Given the description of an element on the screen output the (x, y) to click on. 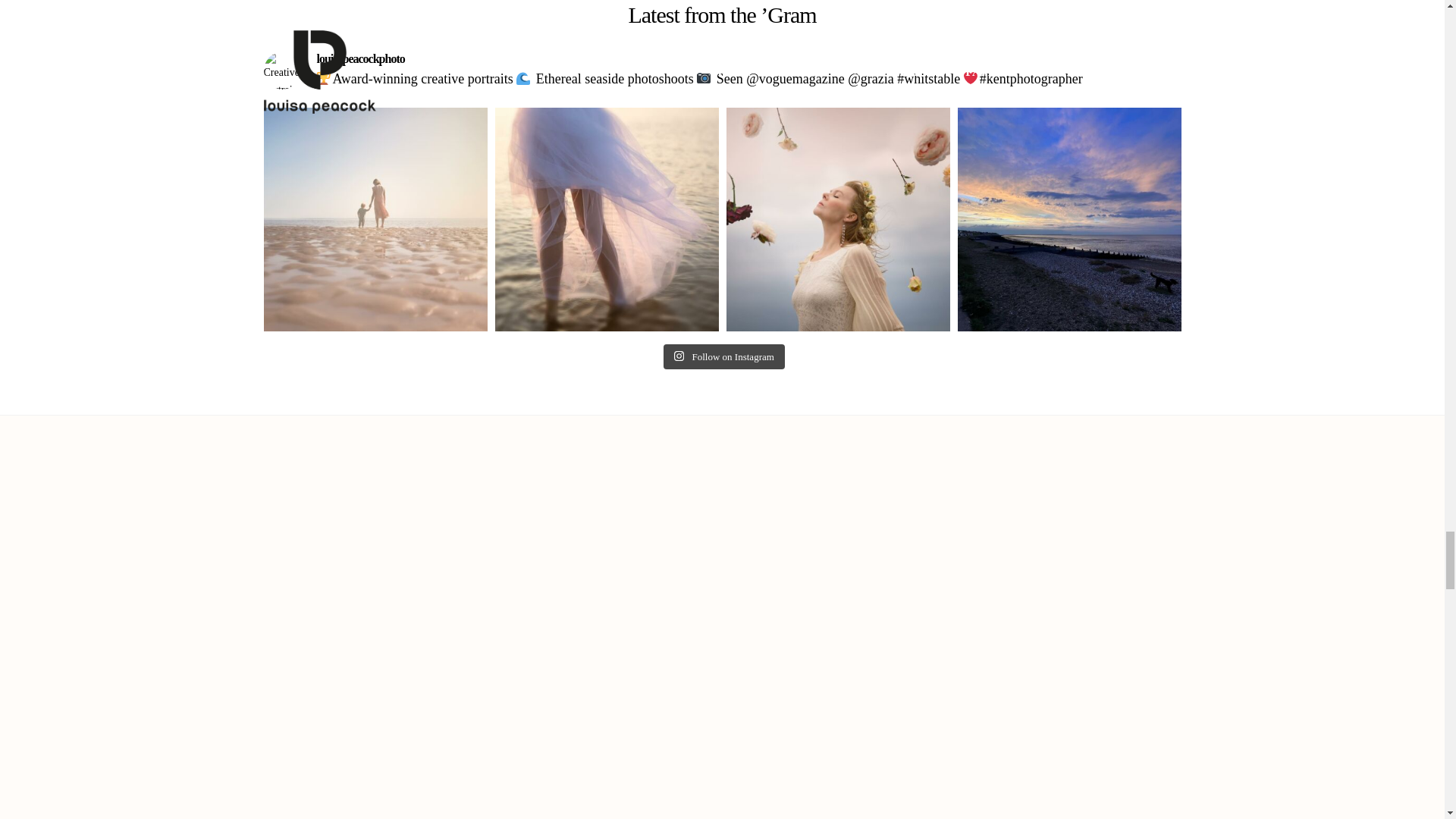
Follow on Instagram (723, 356)
